Given the description of an element on the screen output the (x, y) to click on. 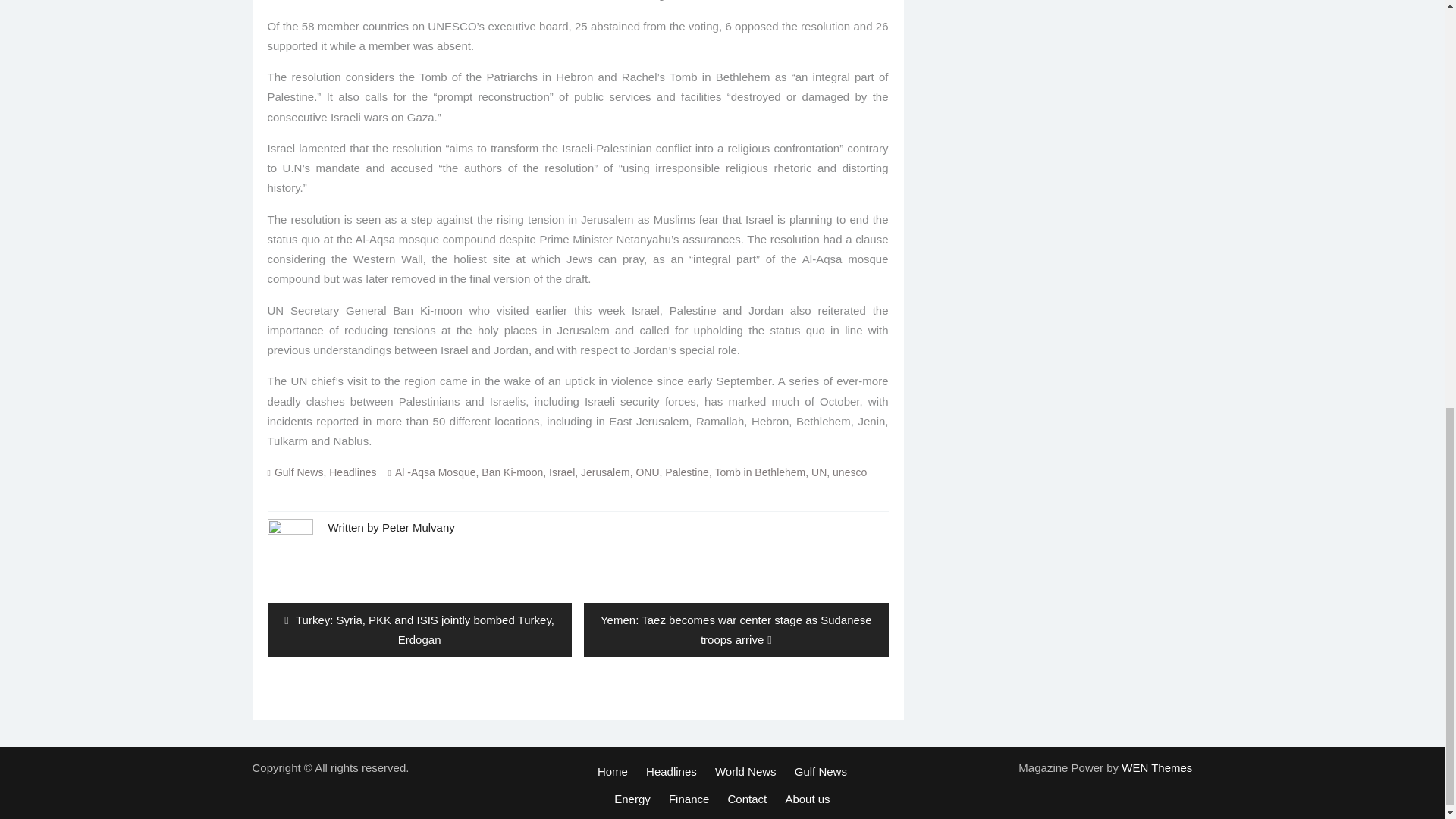
UN (818, 472)
Headlines (352, 472)
Posts by Peter Mulvany (417, 526)
Gulf News (299, 472)
ONU (646, 472)
Palestine (687, 472)
Israel (561, 472)
Peter Mulvany (417, 526)
Al -Aqsa Mosque (435, 472)
unesco (849, 472)
